Given the description of an element on the screen output the (x, y) to click on. 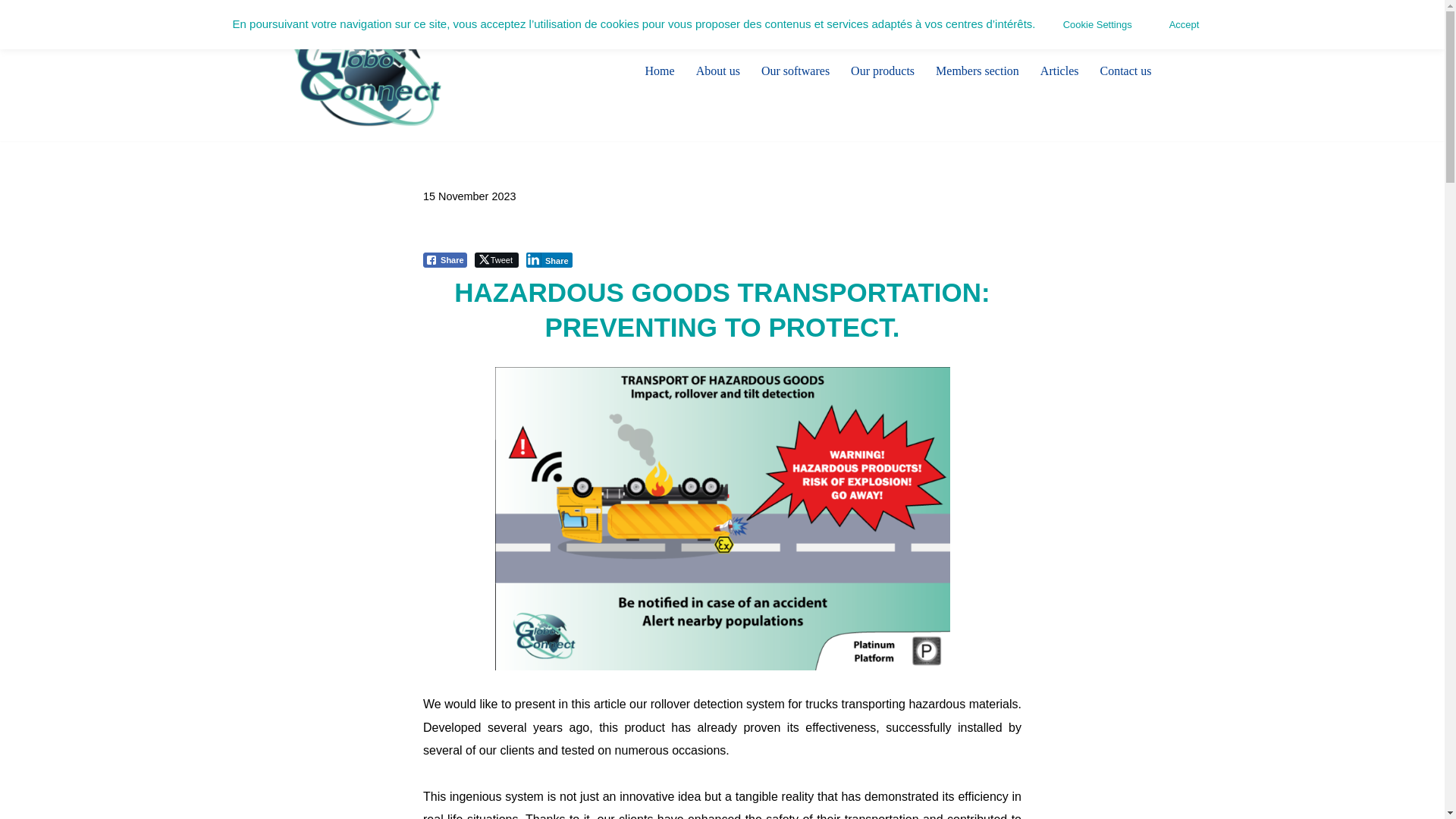
Share (548, 259)
Articles (1059, 70)
Accept (1184, 24)
Share (445, 259)
About us (717, 70)
Home (660, 70)
Cookie Settings (1097, 24)
Tweet (496, 259)
Our softwares (795, 70)
Members section (977, 70)
